Given the description of an element on the screen output the (x, y) to click on. 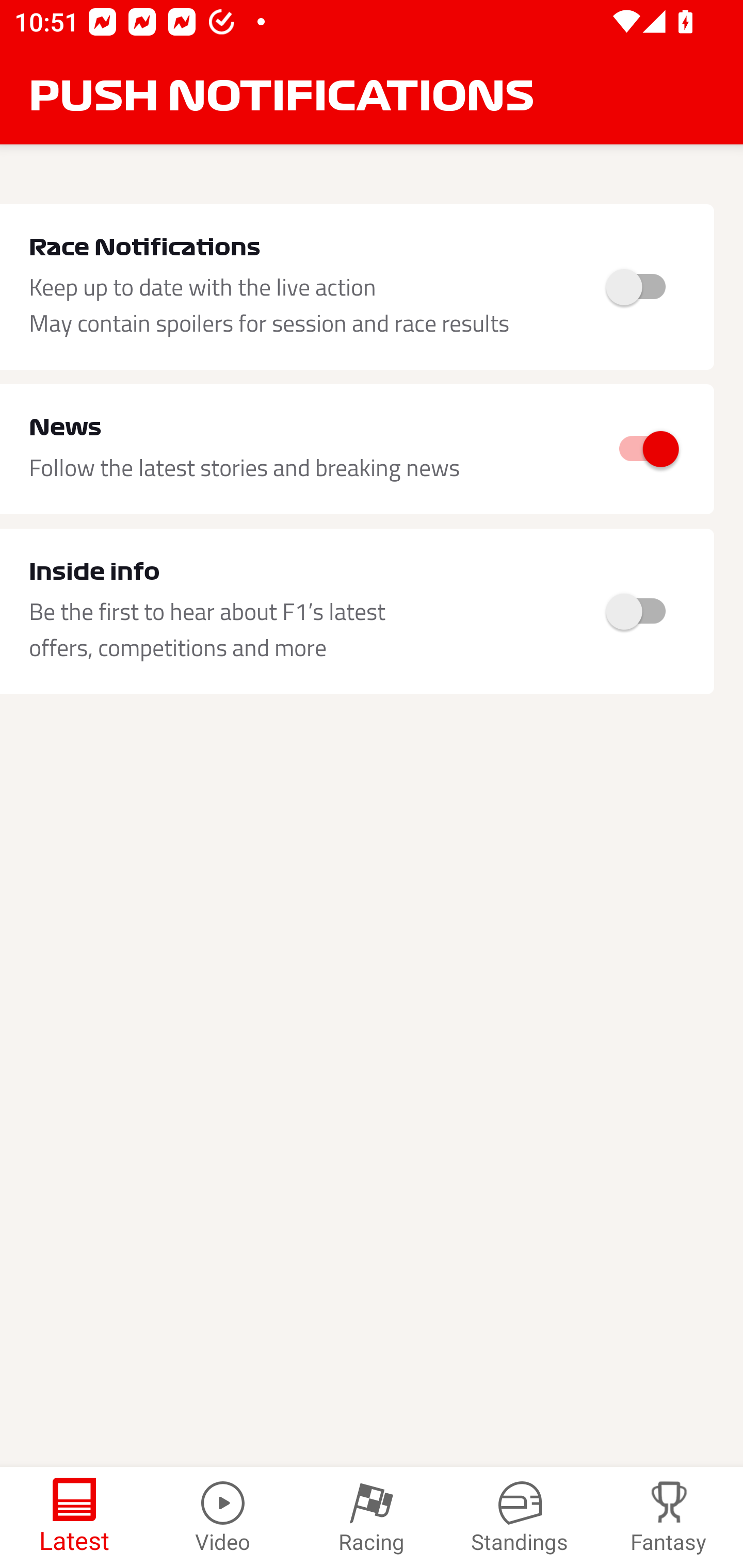
Video (222, 1517)
Racing (371, 1517)
Standings (519, 1517)
Fantasy (668, 1517)
